Given the description of an element on the screen output the (x, y) to click on. 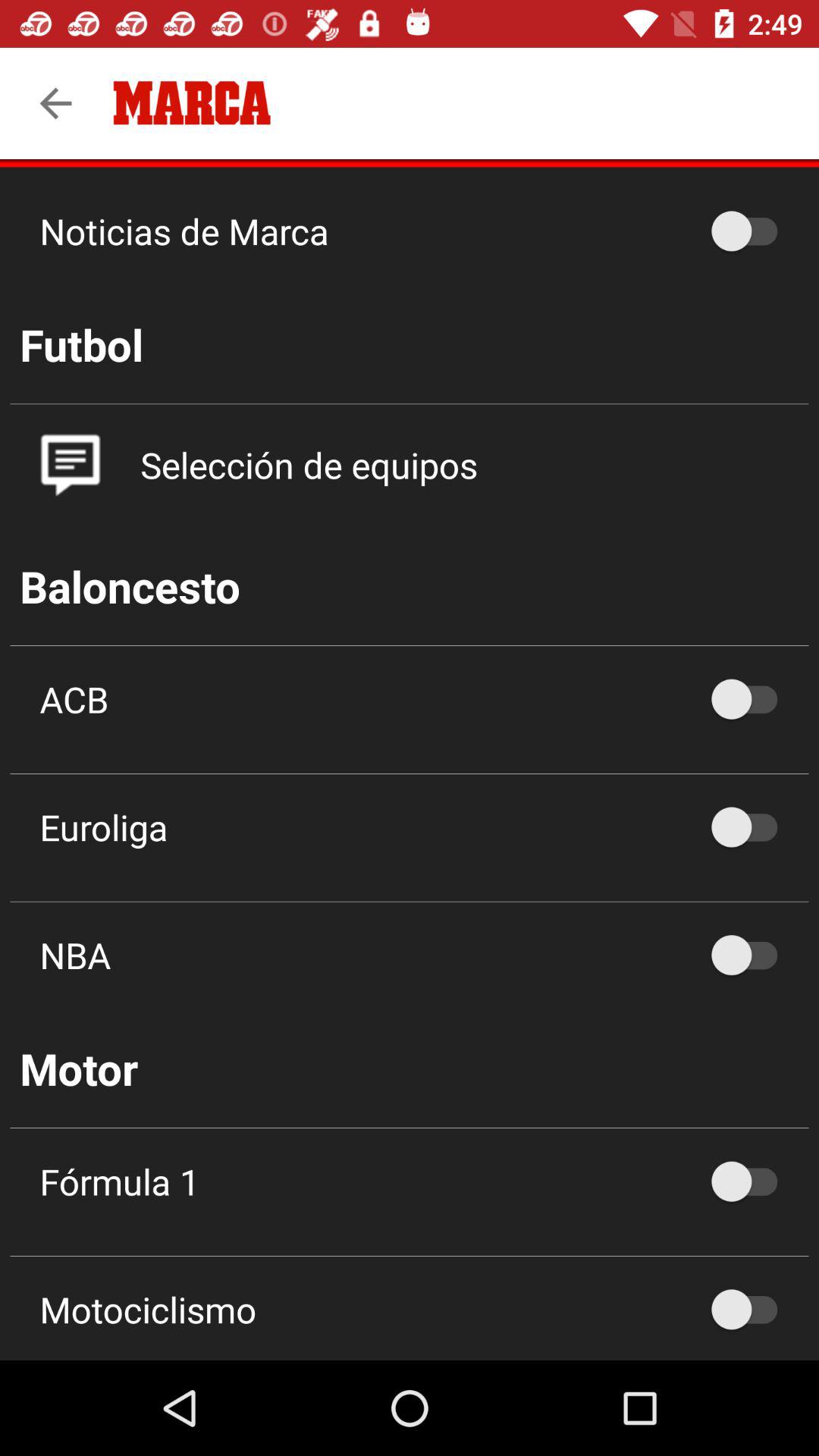
formula one on off (751, 1181)
